Given the description of an element on the screen output the (x, y) to click on. 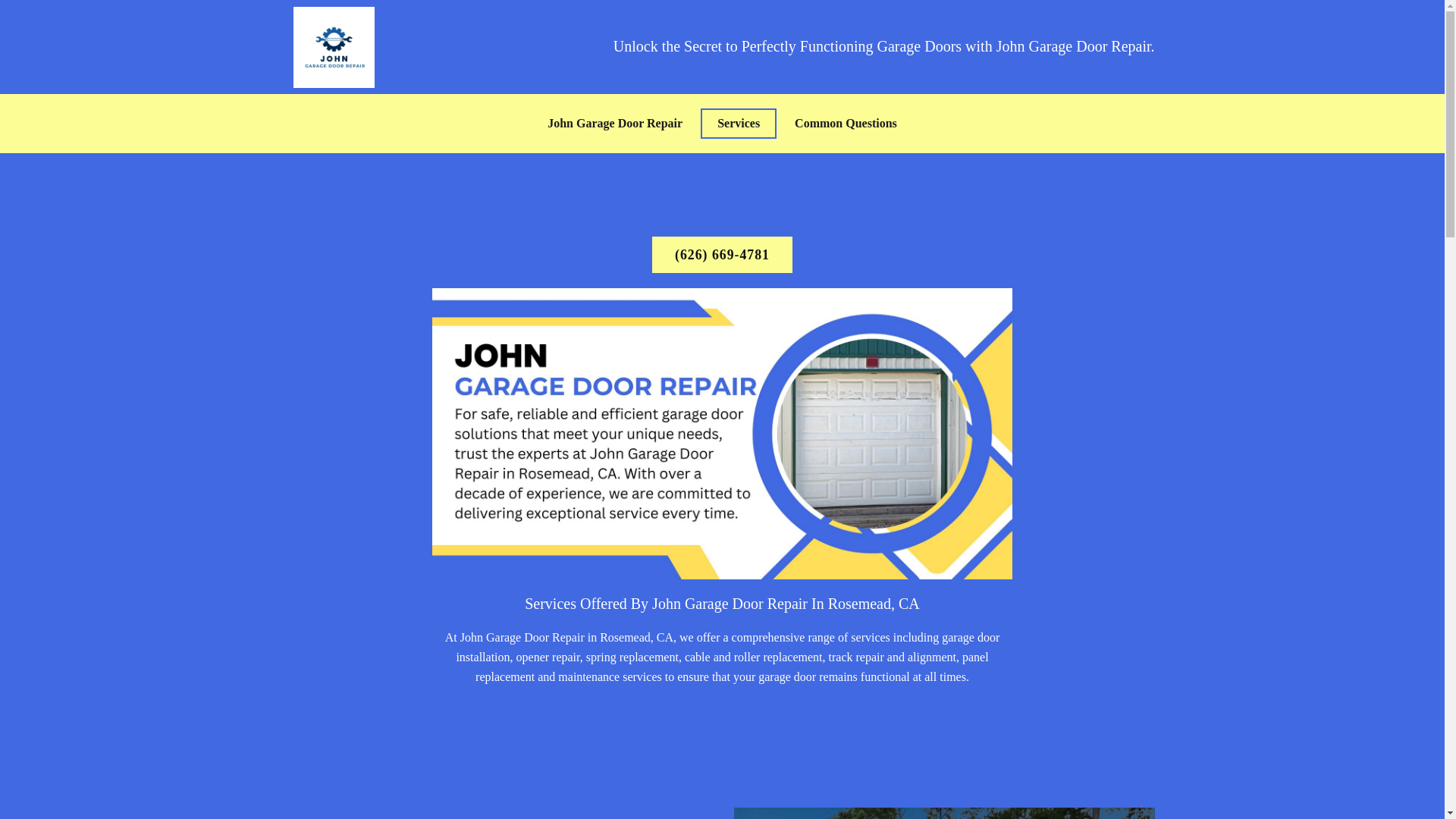
John Garage Door Repair (333, 47)
Common Questions (845, 123)
Services (738, 123)
John Garage Door Repair (614, 123)
